Given the description of an element on the screen output the (x, y) to click on. 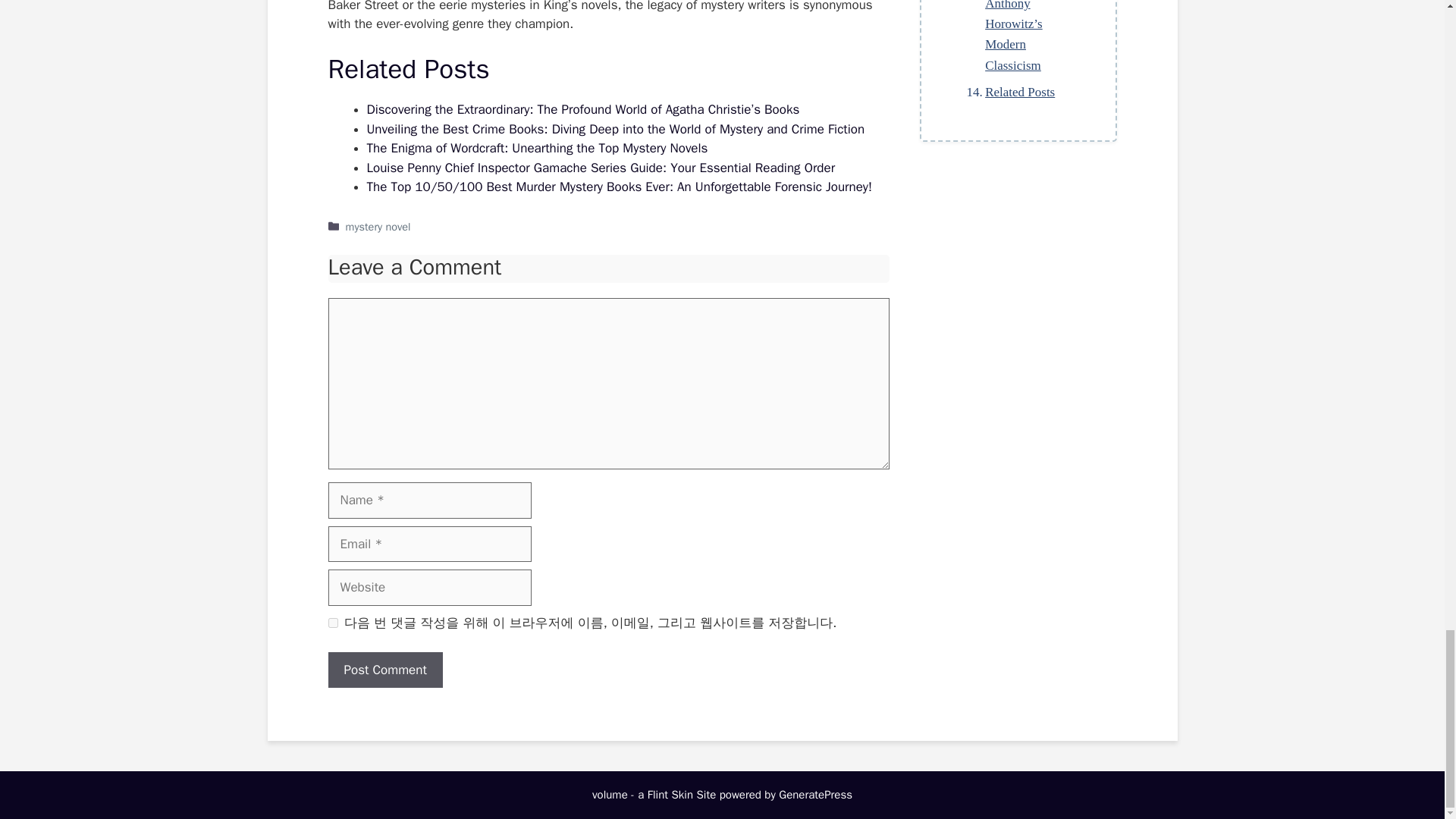
The Enigma of Wordcraft: Unearthing the Top Mystery Novels (536, 148)
Post Comment (384, 669)
yes (332, 623)
Post Comment (384, 669)
mystery novel (378, 226)
